Given the description of an element on the screen output the (x, y) to click on. 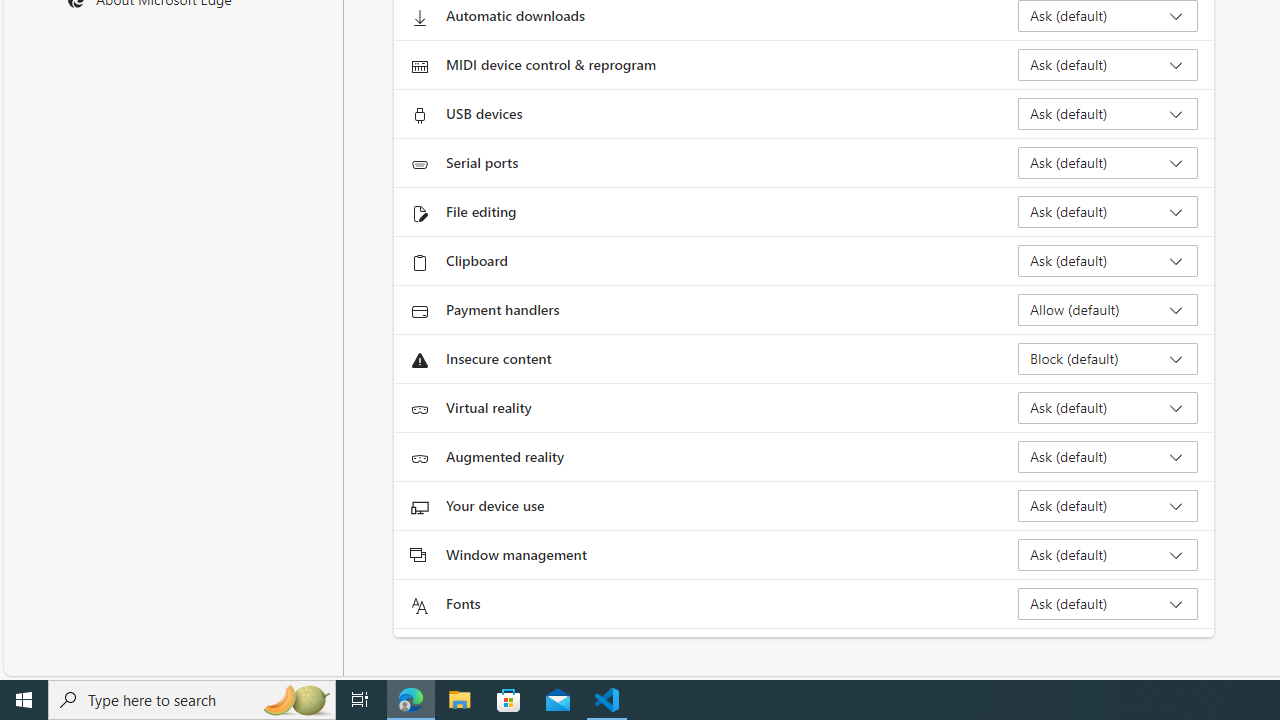
Automatic downloads Ask (default) (1107, 15)
Virtual reality Ask (default) (1107, 407)
Fonts Ask (default) (1107, 603)
File editing Ask (default) (1107, 211)
Your device use Ask (default) (1107, 506)
USB devices Ask (default) (1107, 113)
Augmented reality Ask (default) (1107, 456)
Payment handlers Allow (default) (1107, 309)
Window management Ask (default) (1107, 554)
MIDI device control & reprogram Ask (default) (1107, 64)
Insecure content Block (default) (1107, 358)
Serial ports Ask (default) (1107, 162)
Clipboard Ask (default) (1107, 260)
